Given the description of an element on the screen output the (x, y) to click on. 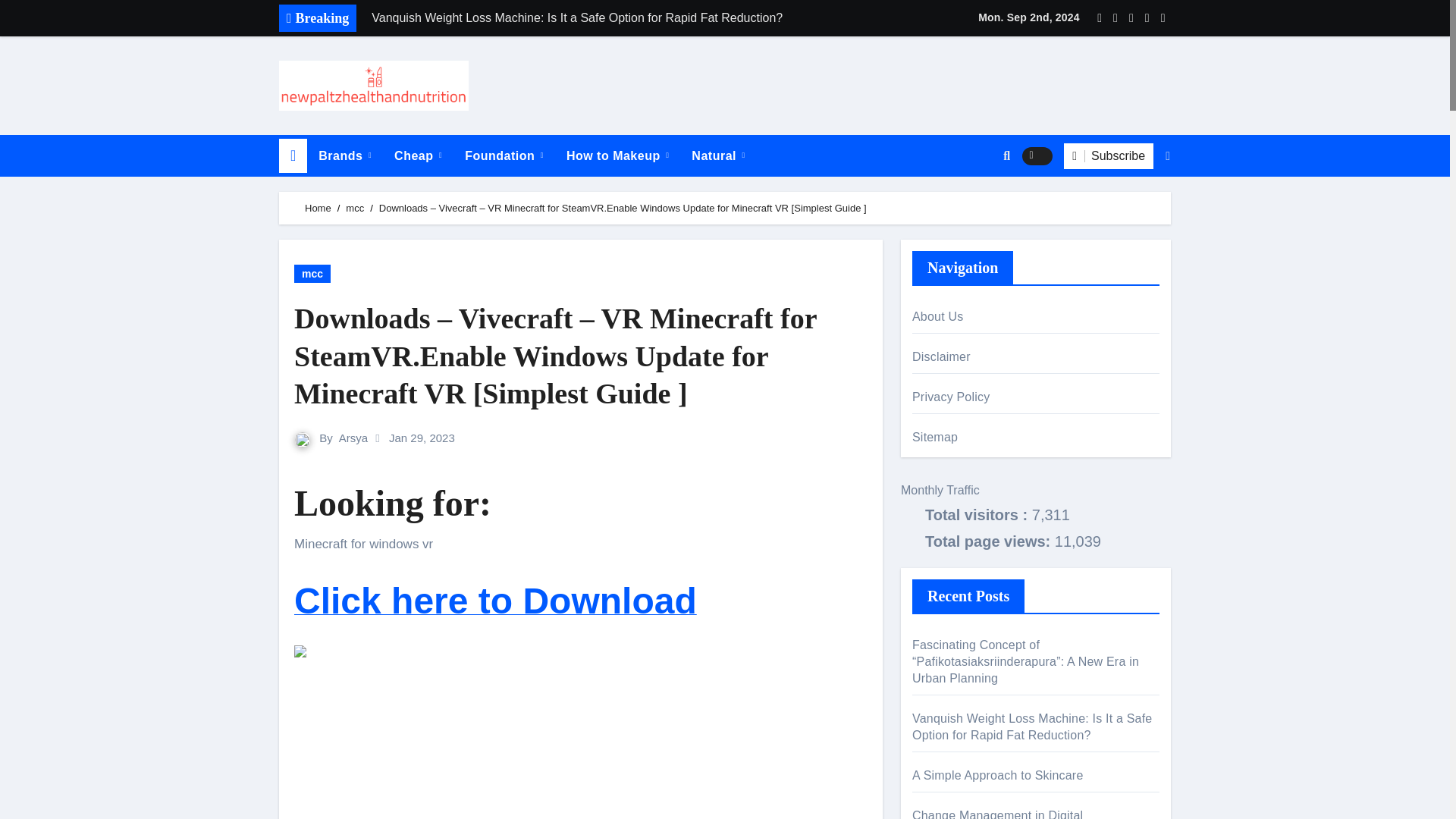
Brands (344, 155)
Cheap (417, 155)
Foundation (503, 155)
Brands (344, 155)
Cheap (417, 155)
Foundation (503, 155)
